Given the description of an element on the screen output the (x, y) to click on. 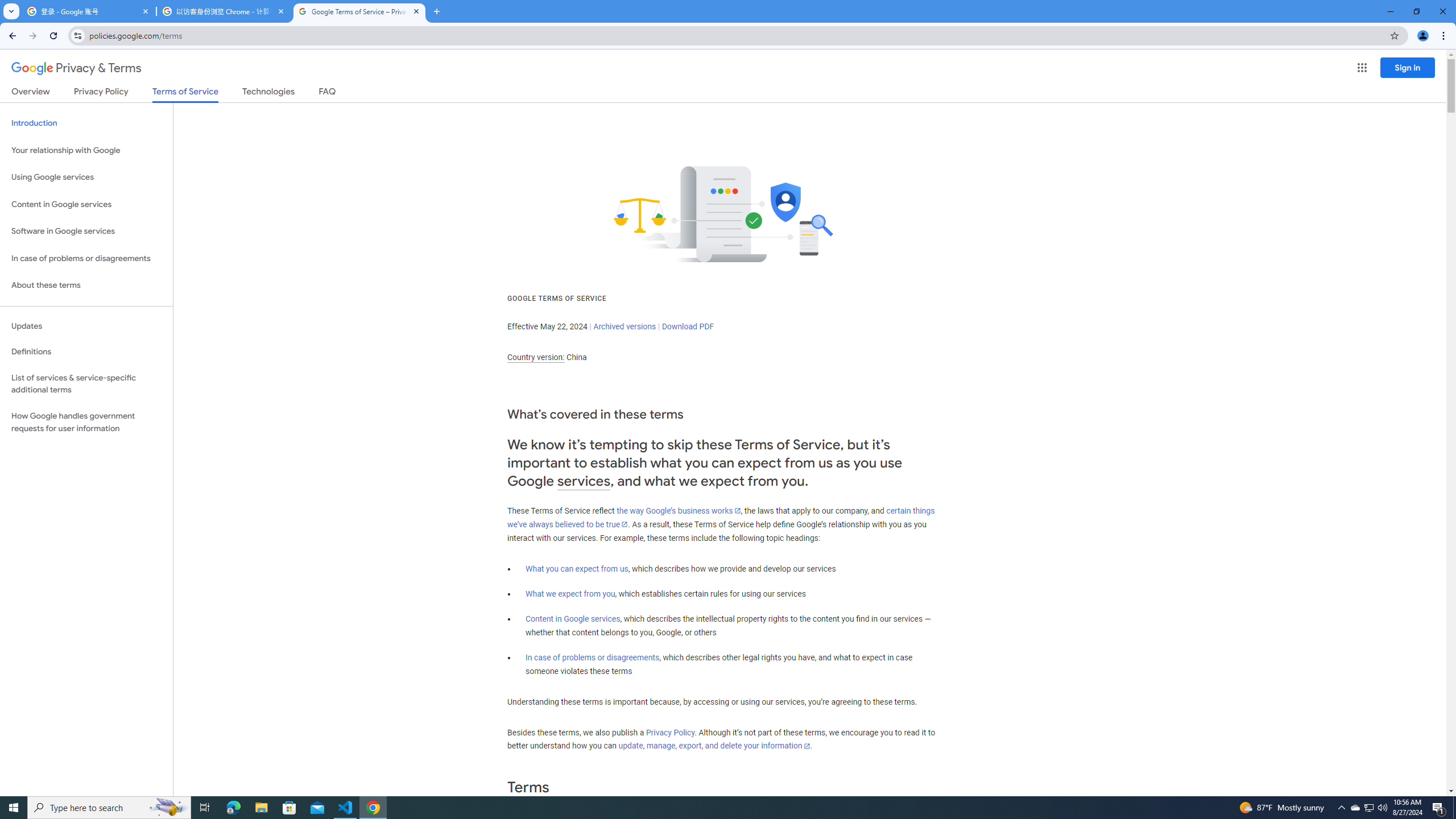
In case of problems or disagreements (592, 657)
services (583, 480)
